Given the description of an element on the screen output the (x, y) to click on. 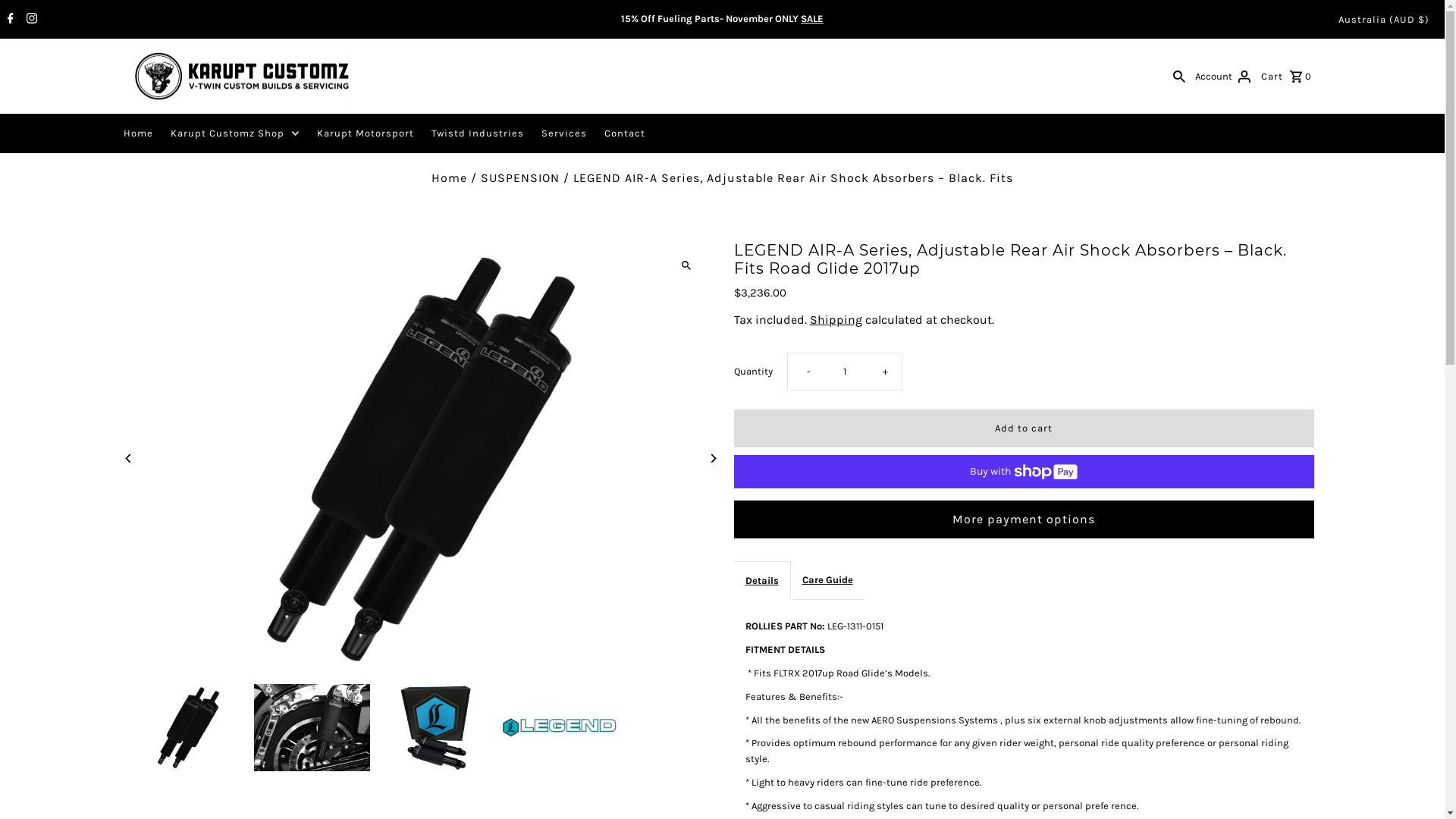
Care Guide Element type: text (826, 580)
Click to zoom Element type: hover (685, 265)
Add to cart Element type: text (1024, 428)
Details Element type: text (762, 580)
Karupt Motorsport Element type: text (365, 133)
SALE Element type: text (811, 18)
Twistd Industries Element type: text (476, 133)
Contact Element type: text (624, 133)
Home Element type: text (137, 133)
SUSPENSION Element type: text (519, 177)
More payment options Element type: text (1024, 519)
Karupt Customz Shop Element type: text (234, 133)
Home Element type: text (449, 177)
Australia (AUD $) Element type: text (1383, 19)
Services Element type: text (563, 133)
Shipping Element type: text (835, 319)
